Given the description of an element on the screen output the (x, y) to click on. 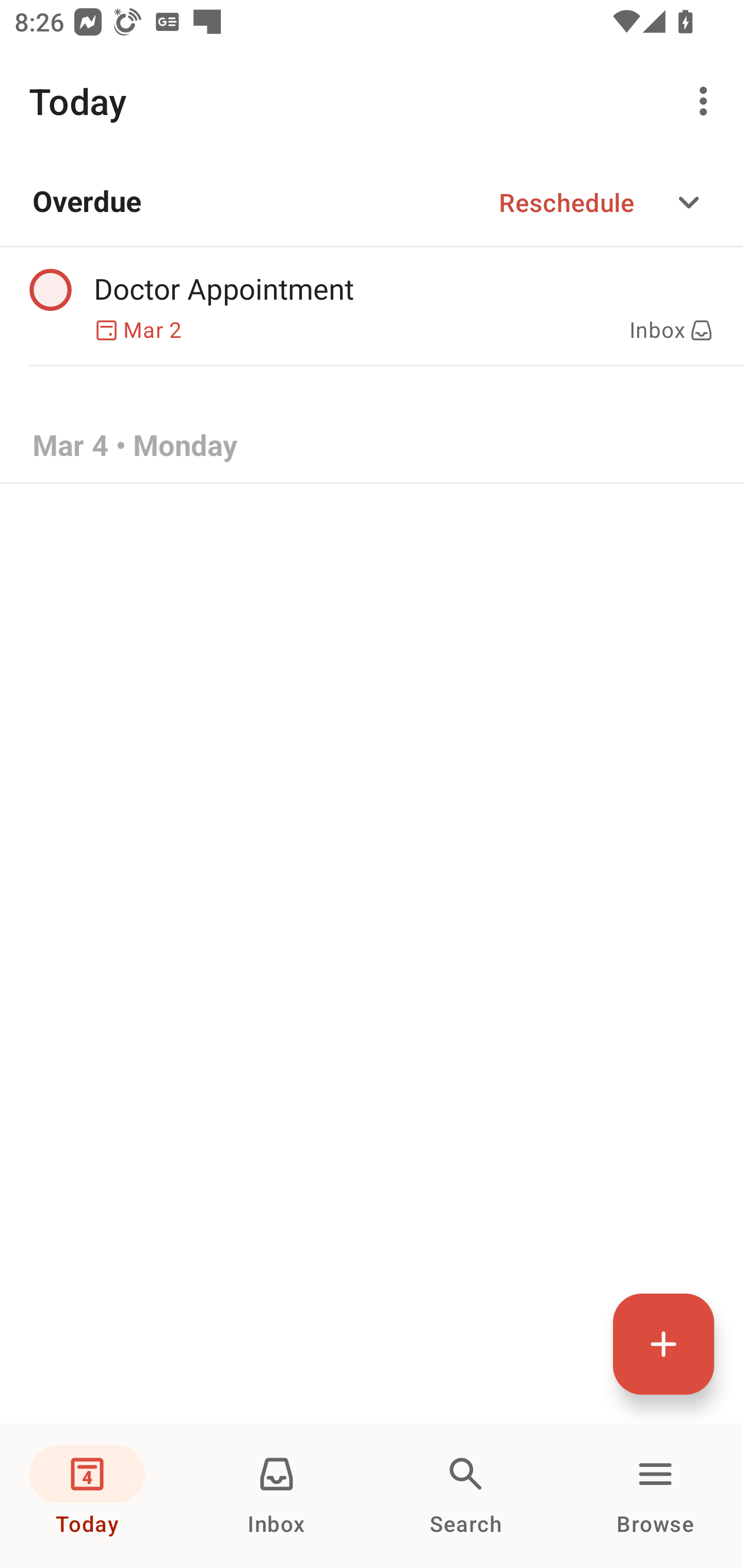
Today More options (371, 100)
More options (706, 101)
Overdue Reschedule Expand/collapse (371, 202)
Reschedule (566, 202)
Complete Doctor Appointment Mar 2 Inbox (371, 306)
Complete (50, 289)
Mar 4 • Monday (371, 446)
Quick add (663, 1343)
Inbox (276, 1495)
Search (465, 1495)
Browse (655, 1495)
